Given the description of an element on the screen output the (x, y) to click on. 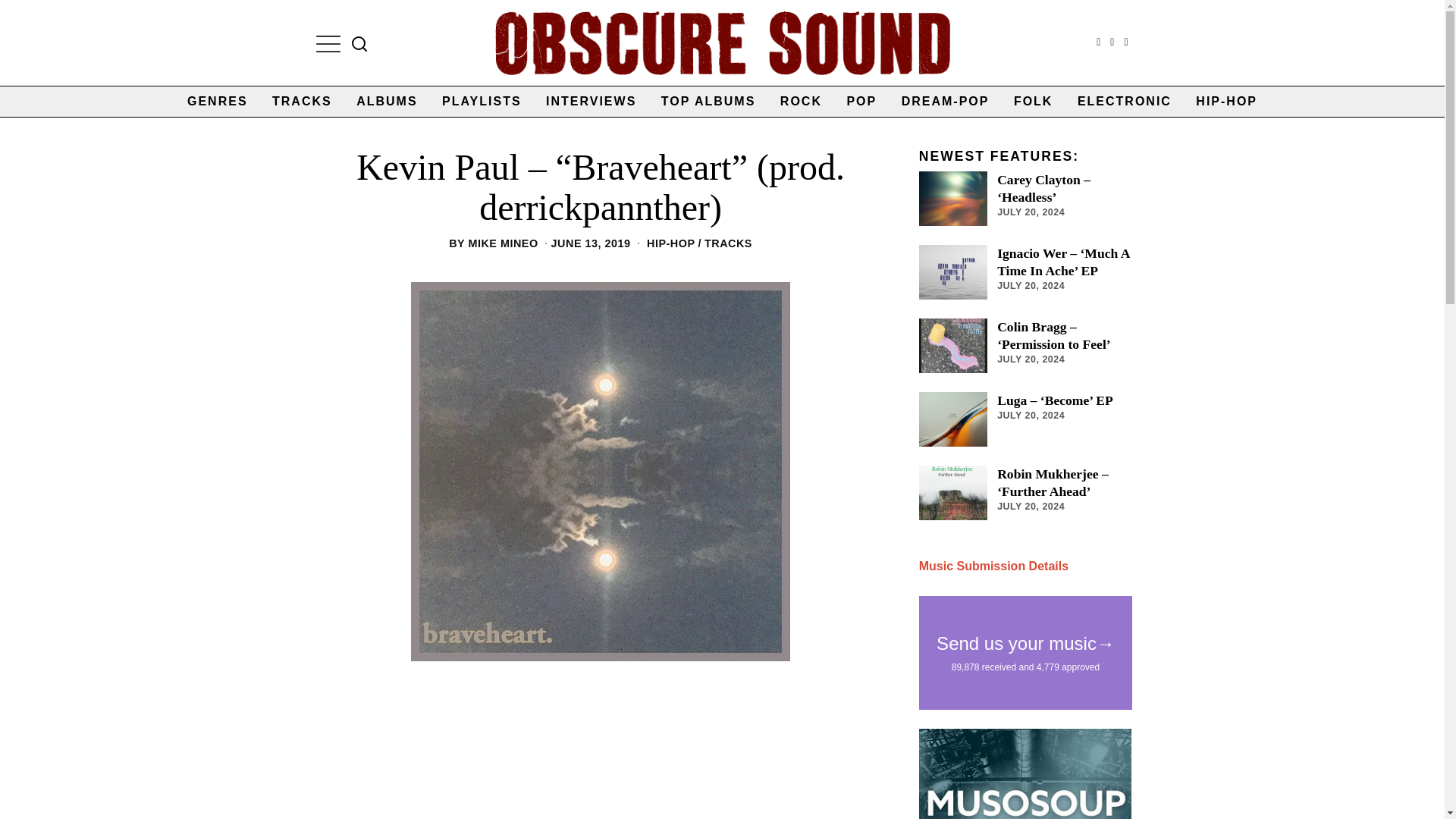
INTERVIEWS (590, 101)
ELECTRONIC (1124, 101)
Send music (993, 565)
ROCK (801, 101)
HIP-HOP (1226, 101)
TOP ALBUMS (708, 101)
POP (860, 101)
GENRES (217, 101)
MIKE MINEO (502, 243)
HIP-HOP (670, 243)
TRACKS (302, 101)
FOLK (1033, 101)
DREAM-POP (945, 101)
TRACKS (728, 243)
ALBUMS (387, 101)
